Given the description of an element on the screen output the (x, y) to click on. 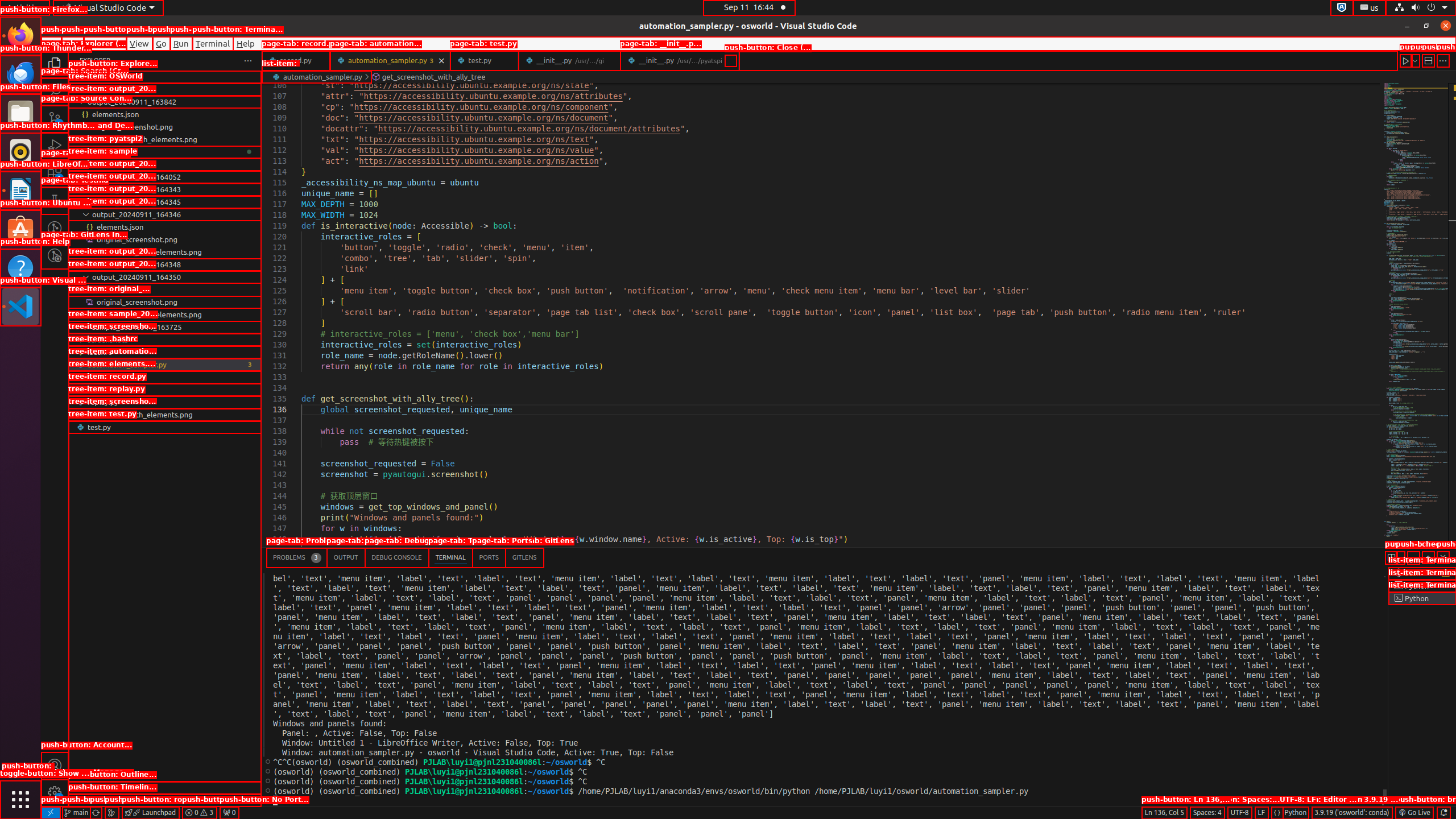
Active View Switcher Element type: page-tab-list (404, 557)
:1.21/StatusNotifierItem Element type: menu (1369, 7)
output_20240911_164343 Element type: tree-item (164, 189)
Terminal 5 Python Element type: list-item (1422, 598)
Run Element type: push-button (181, 43)
